Given the description of an element on the screen output the (x, y) to click on. 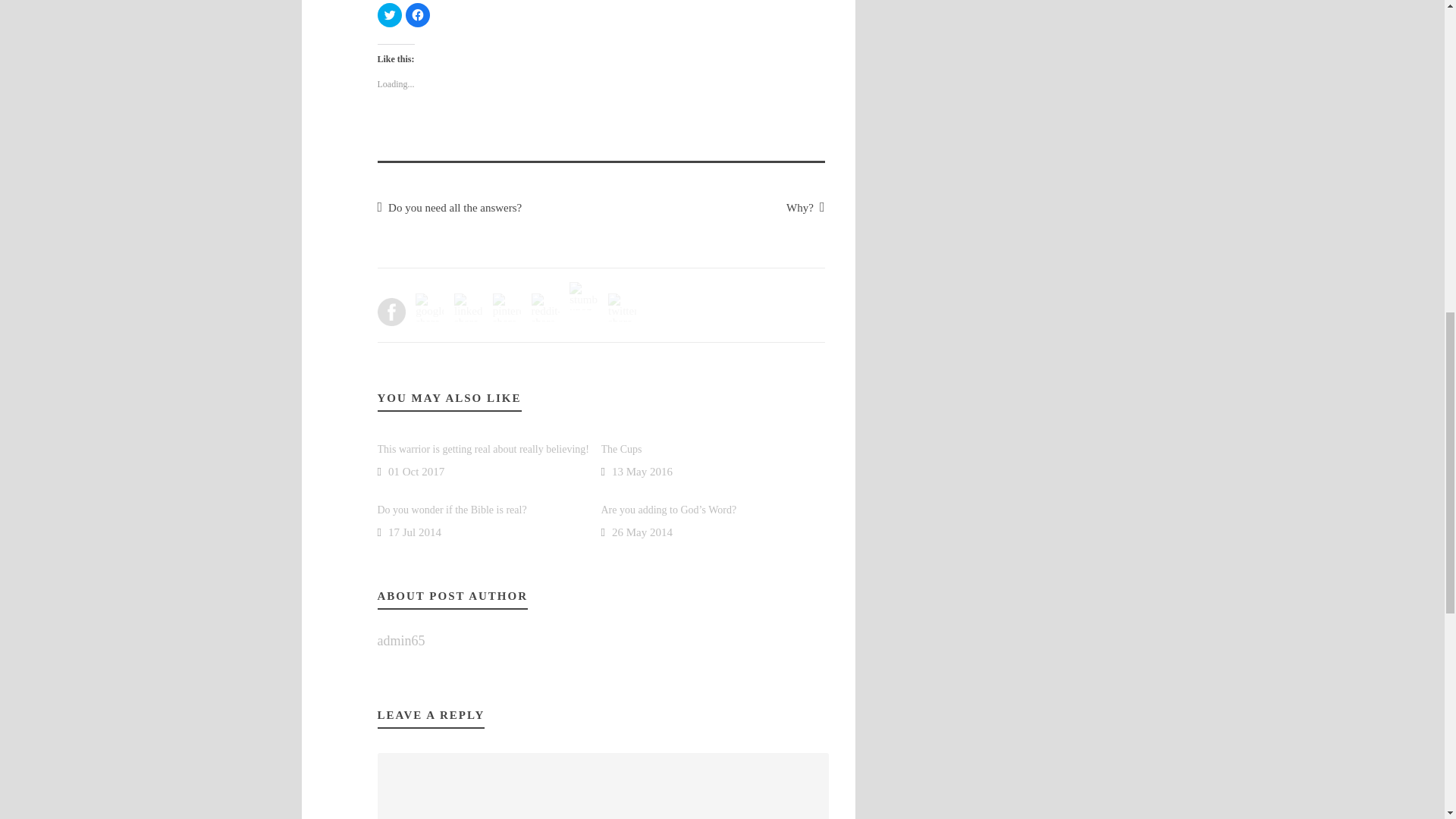
Why? (805, 207)
Click to share on Facebook (416, 15)
This warrior is getting real about really believing! (483, 449)
Do you need all the answers? (449, 207)
Posts by admin65 (401, 640)
Click to share on Twitter (389, 15)
